Given the description of an element on the screen output the (x, y) to click on. 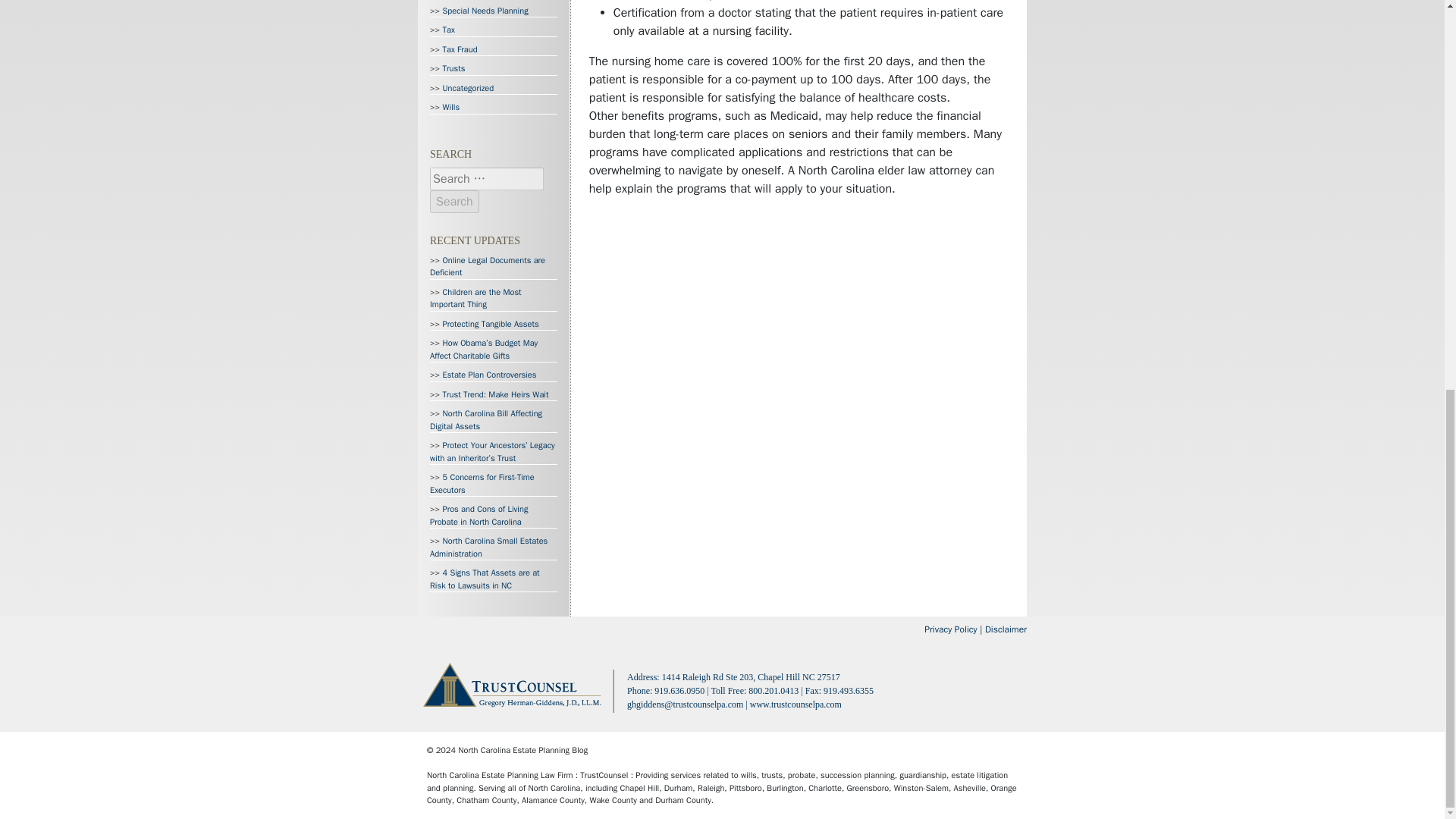
Tax Fraud (459, 49)
Trusts (453, 68)
Search (454, 200)
Search (454, 200)
Tax (448, 29)
Special Needs Planning (485, 9)
